Given the description of an element on the screen output the (x, y) to click on. 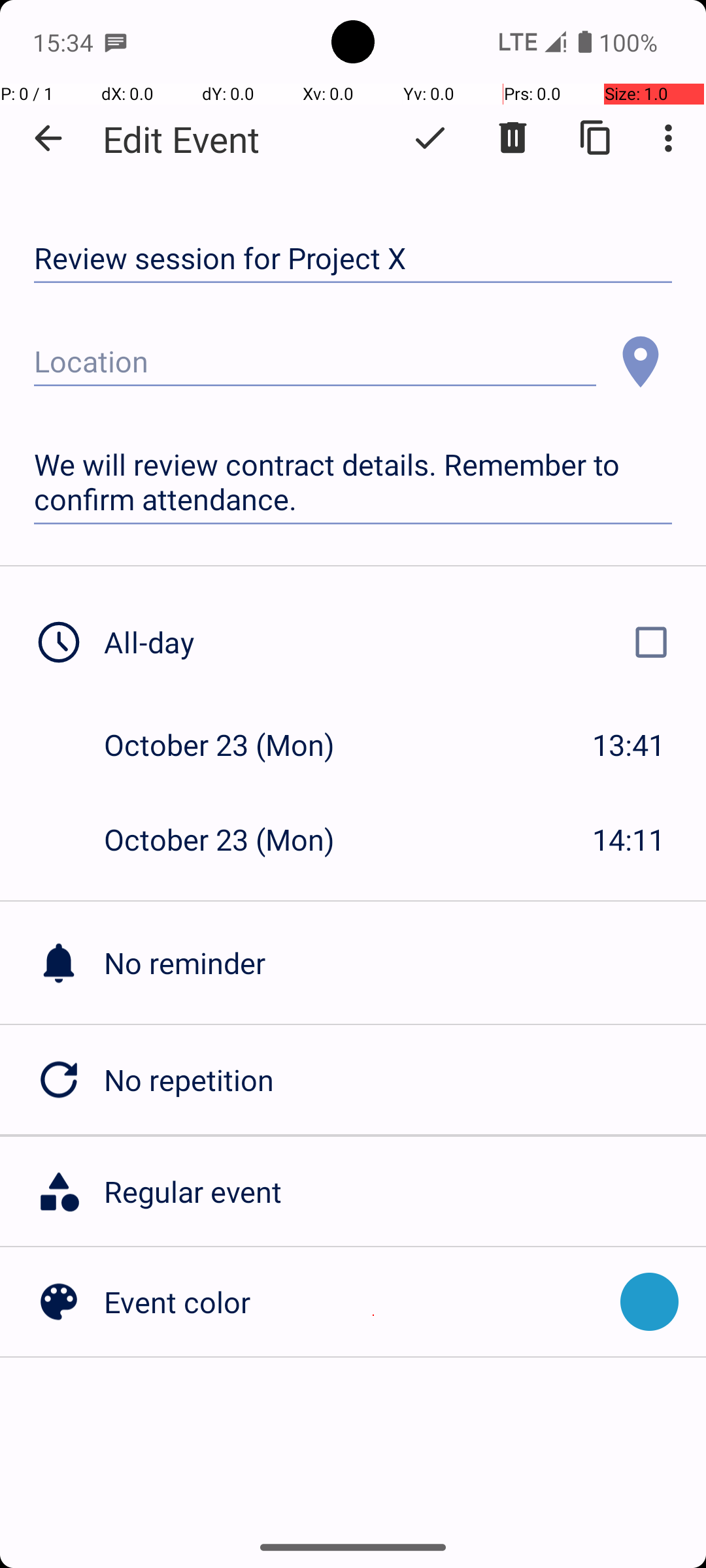
We will review contract details. Remember to confirm attendance. Element type: android.widget.EditText (352, 482)
October 23 (Mon) Element type: android.widget.TextView (232, 744)
13:41 Element type: android.widget.TextView (628, 744)
14:11 Element type: android.widget.TextView (628, 838)
